Given the description of an element on the screen output the (x, y) to click on. 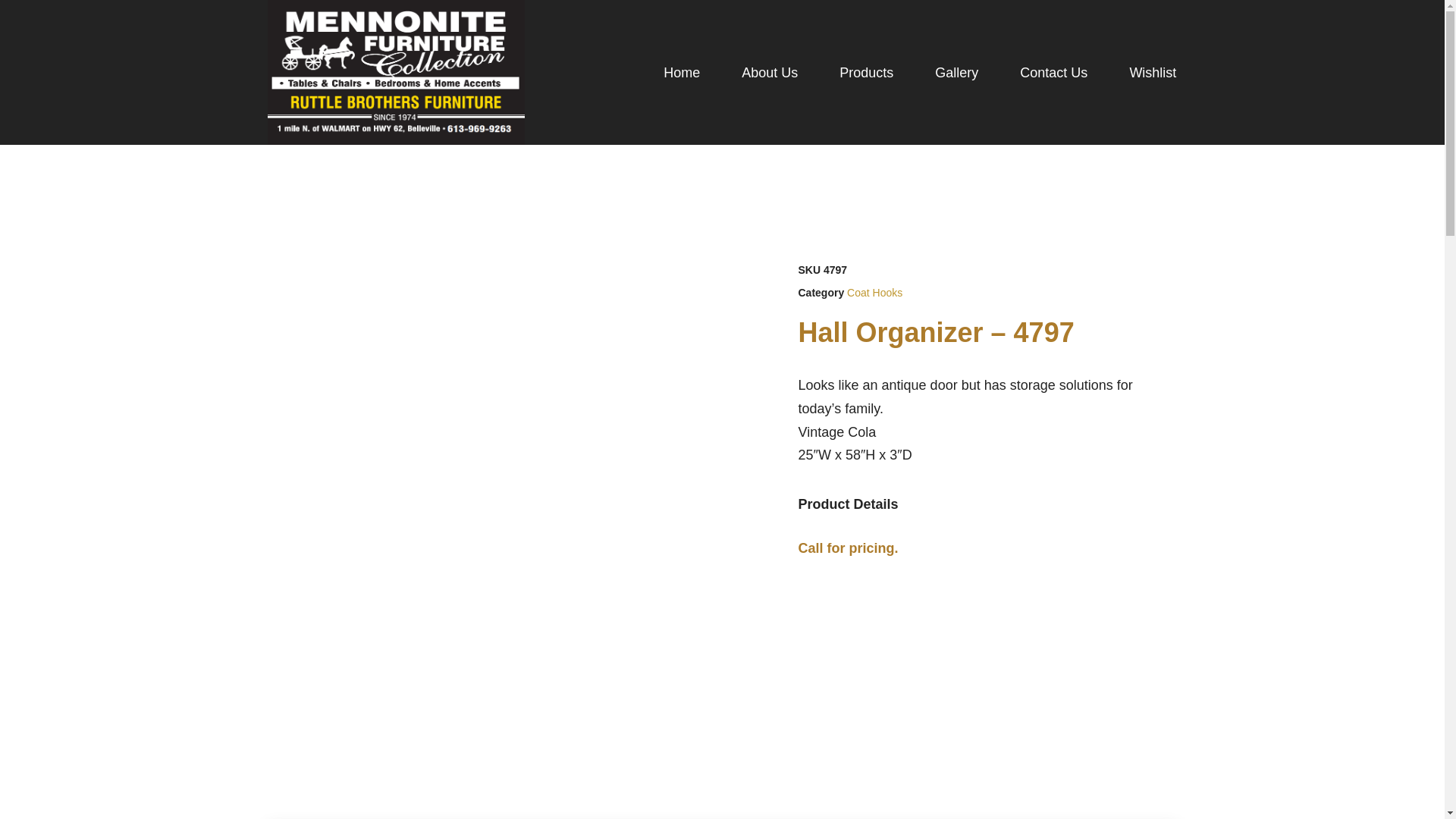
Home (681, 72)
logo2 (395, 72)
About Us (769, 72)
Products (866, 72)
